Given the description of an element on the screen output the (x, y) to click on. 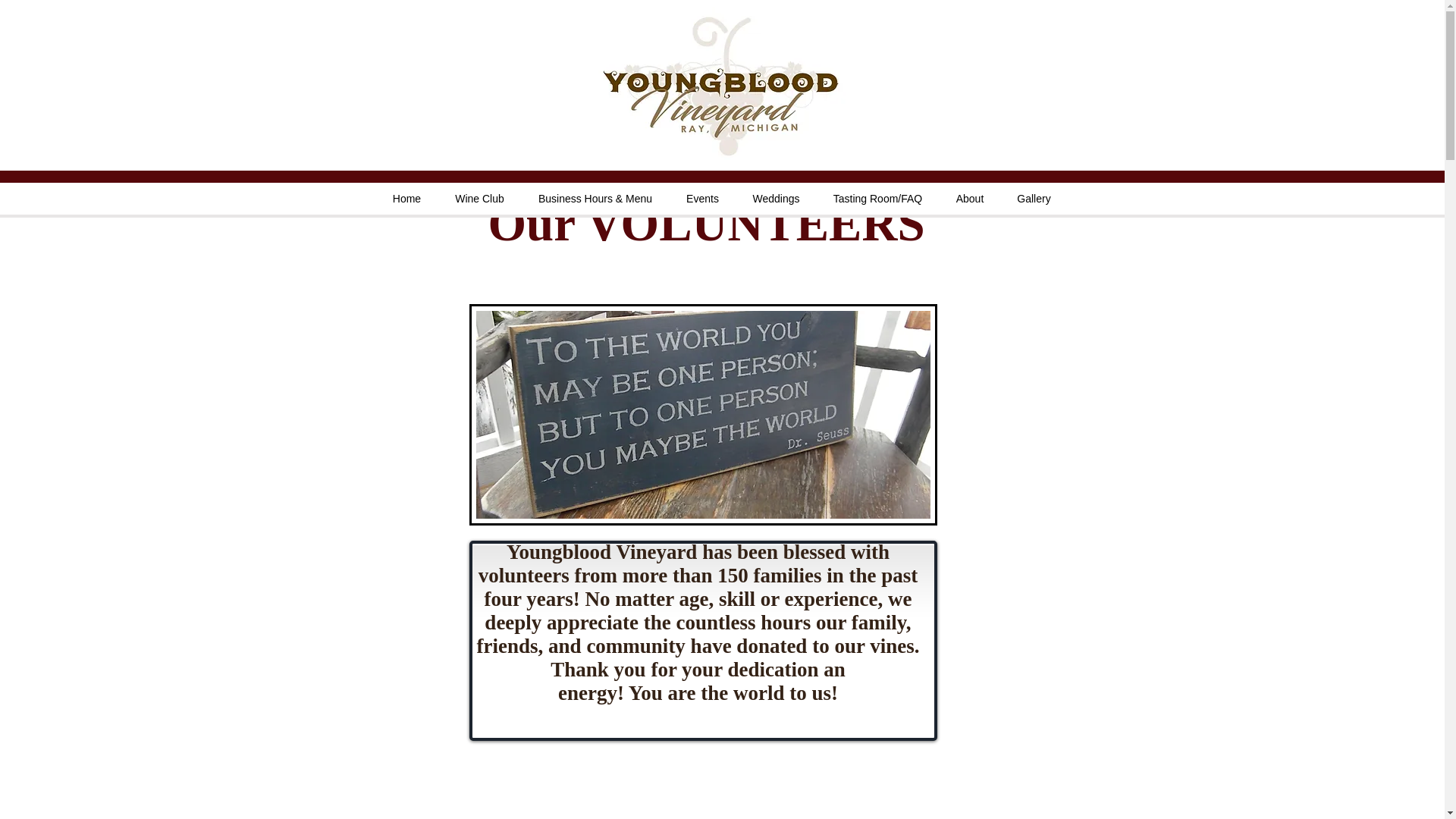
Home (406, 198)
About (969, 198)
Events (701, 198)
Wine Club (479, 198)
Weddings (775, 198)
Gallery (1034, 198)
